Given the description of an element on the screen output the (x, y) to click on. 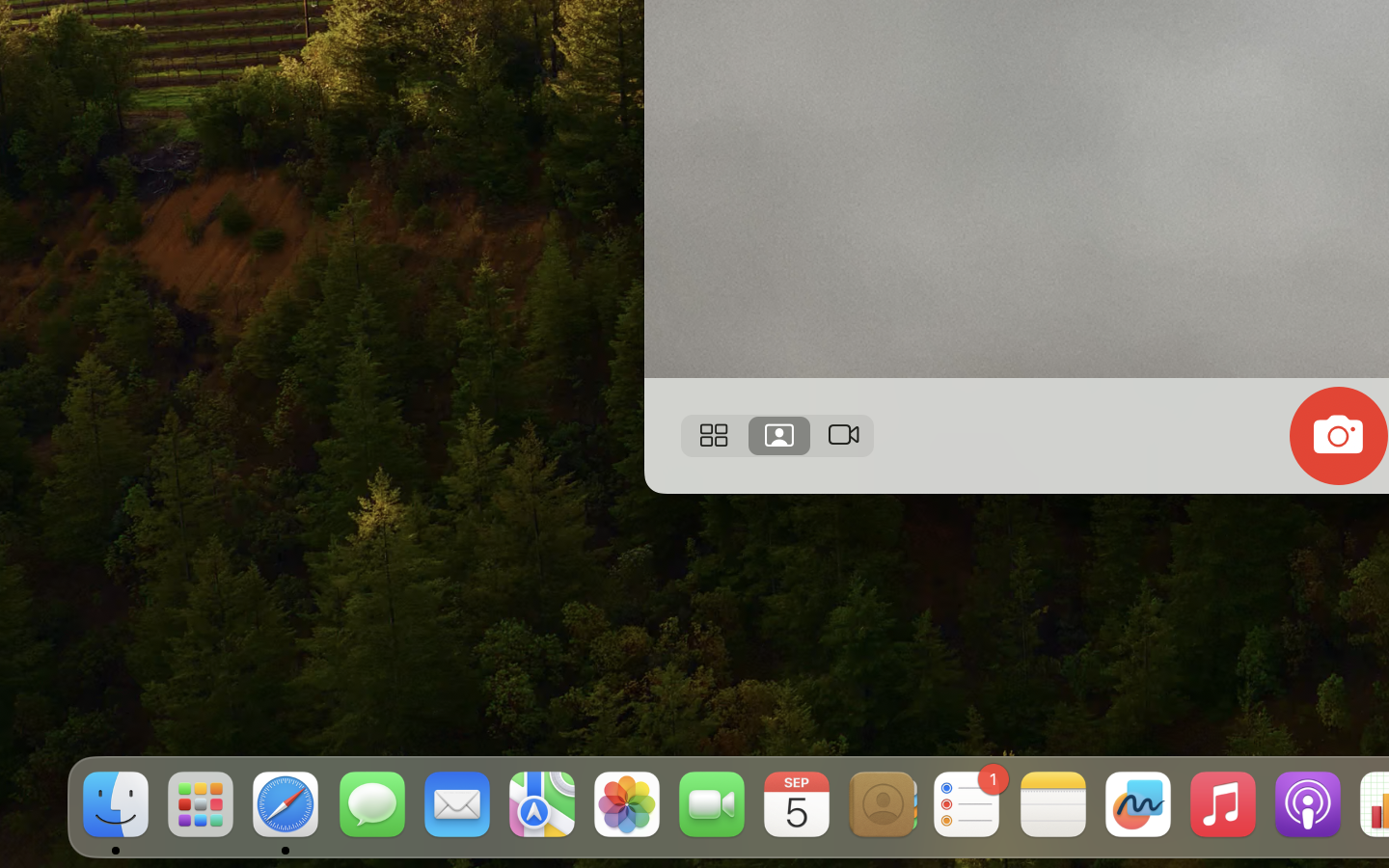
<AXUIElement 0x286e97060> {pid=1653} Element type: AXRadioGroup (777, 435)
